Given the description of an element on the screen output the (x, y) to click on. 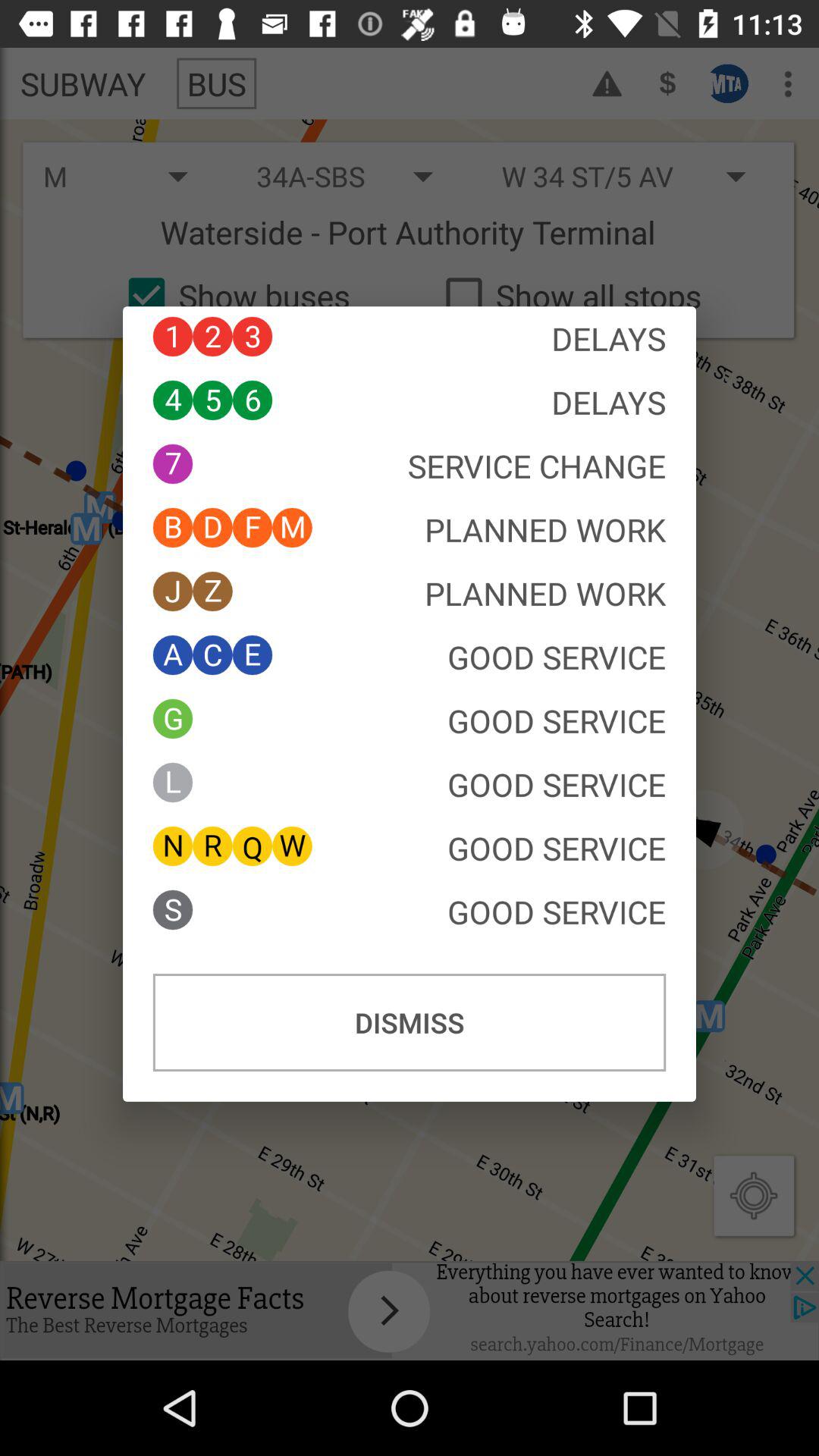
open the app below the good service app (409, 1022)
